Given the description of an element on the screen output the (x, y) to click on. 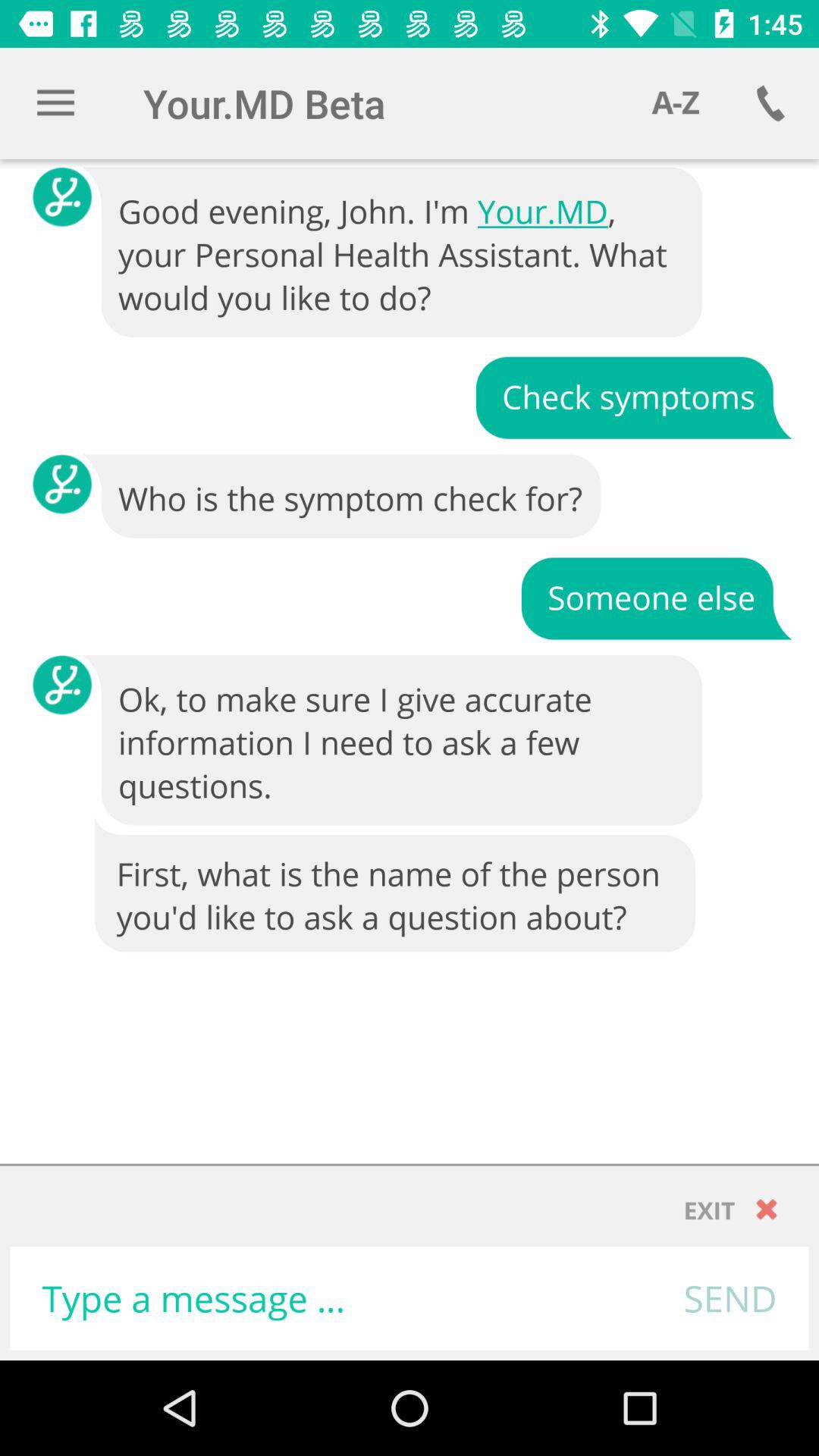
turn on the item above the ok to make item (656, 597)
